Given the description of an element on the screen output the (x, y) to click on. 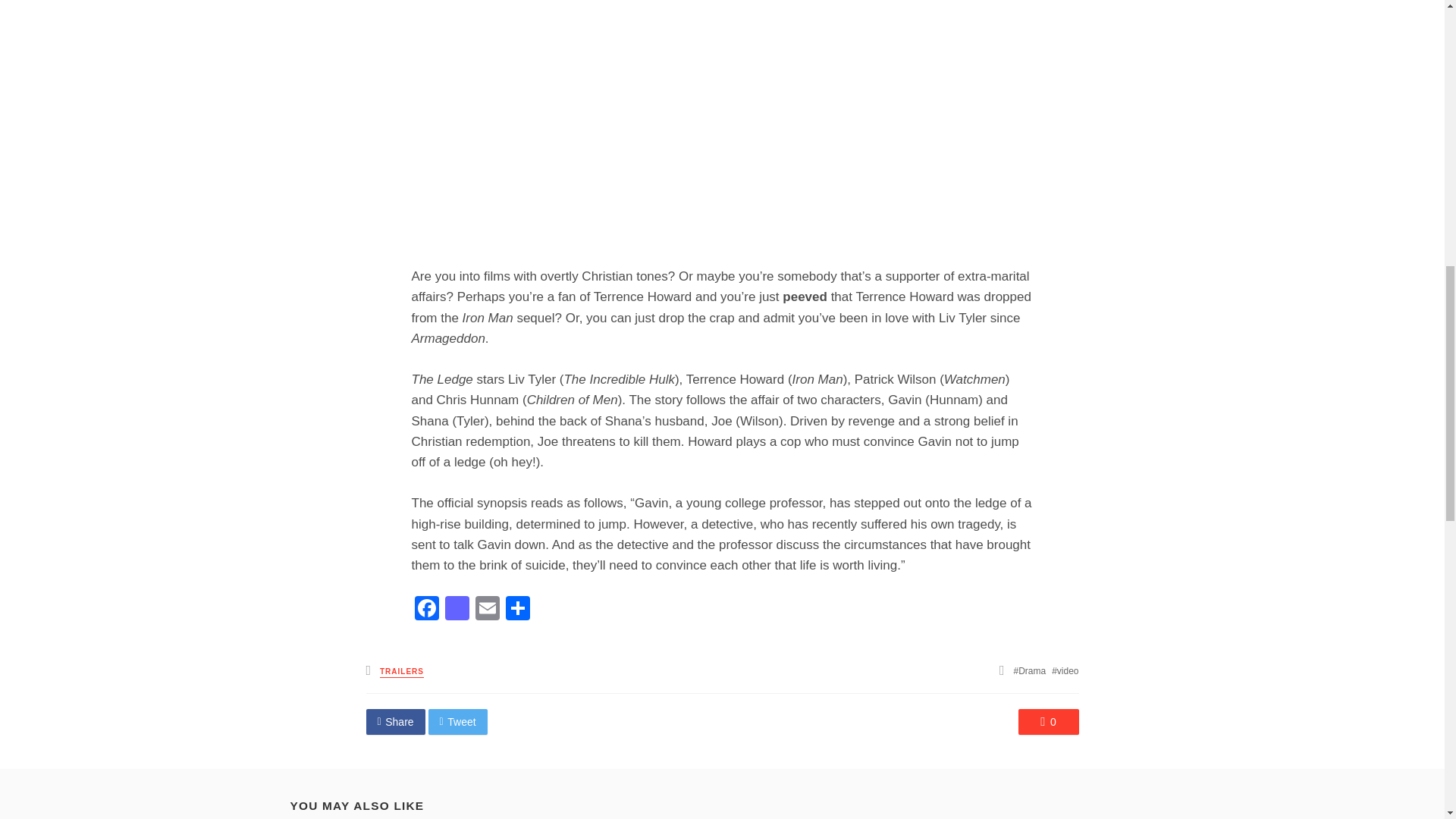
video (1064, 670)
Drama (1029, 670)
TRAILERS (401, 672)
Mastodon (456, 610)
Share (395, 721)
Facebook (425, 610)
Facebook (425, 610)
0 (1047, 721)
Email (486, 610)
Mastodon (456, 610)
